Given the description of an element on the screen output the (x, y) to click on. 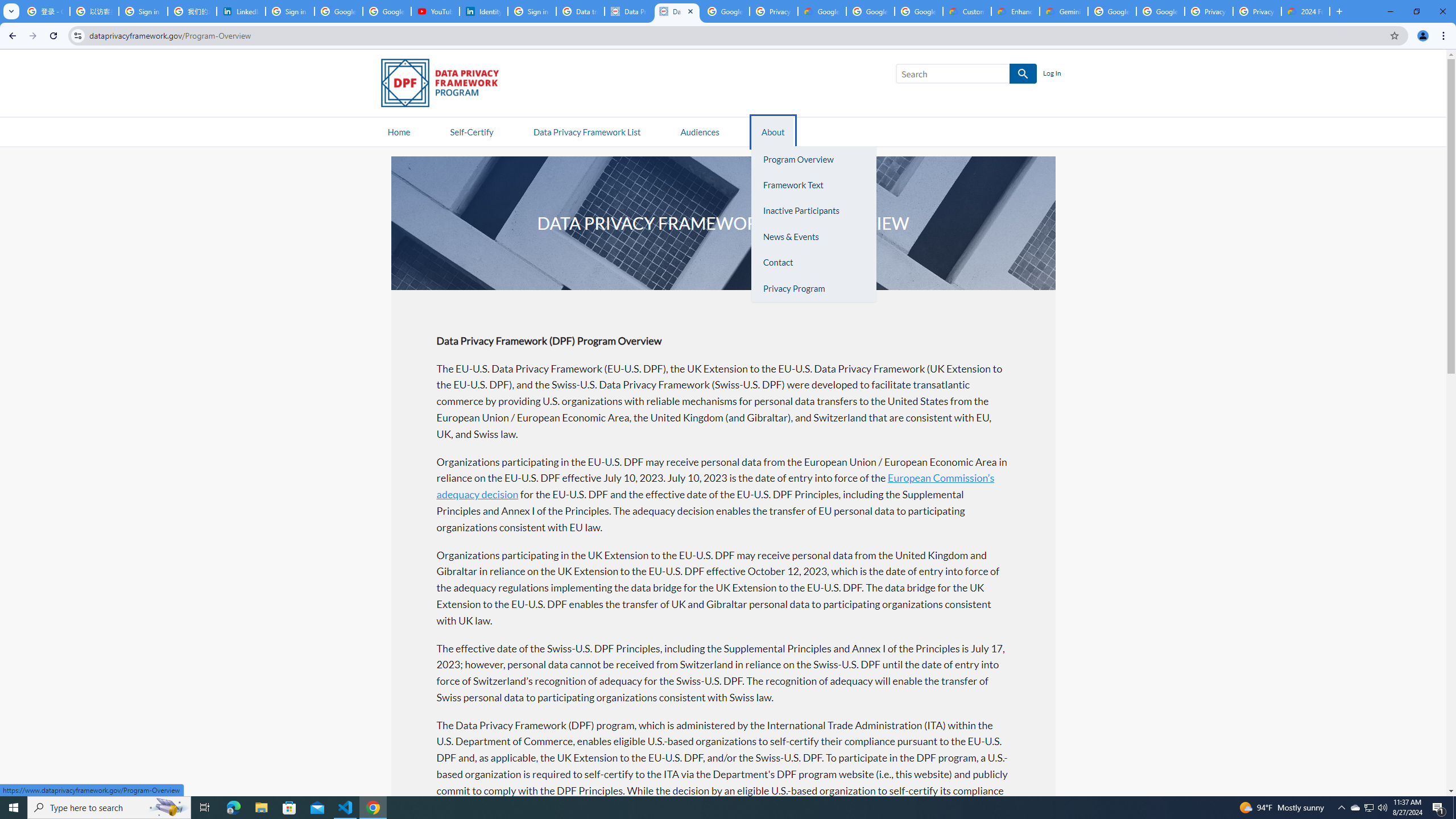
Contact (813, 262)
